Given the description of an element on the screen output the (x, y) to click on. 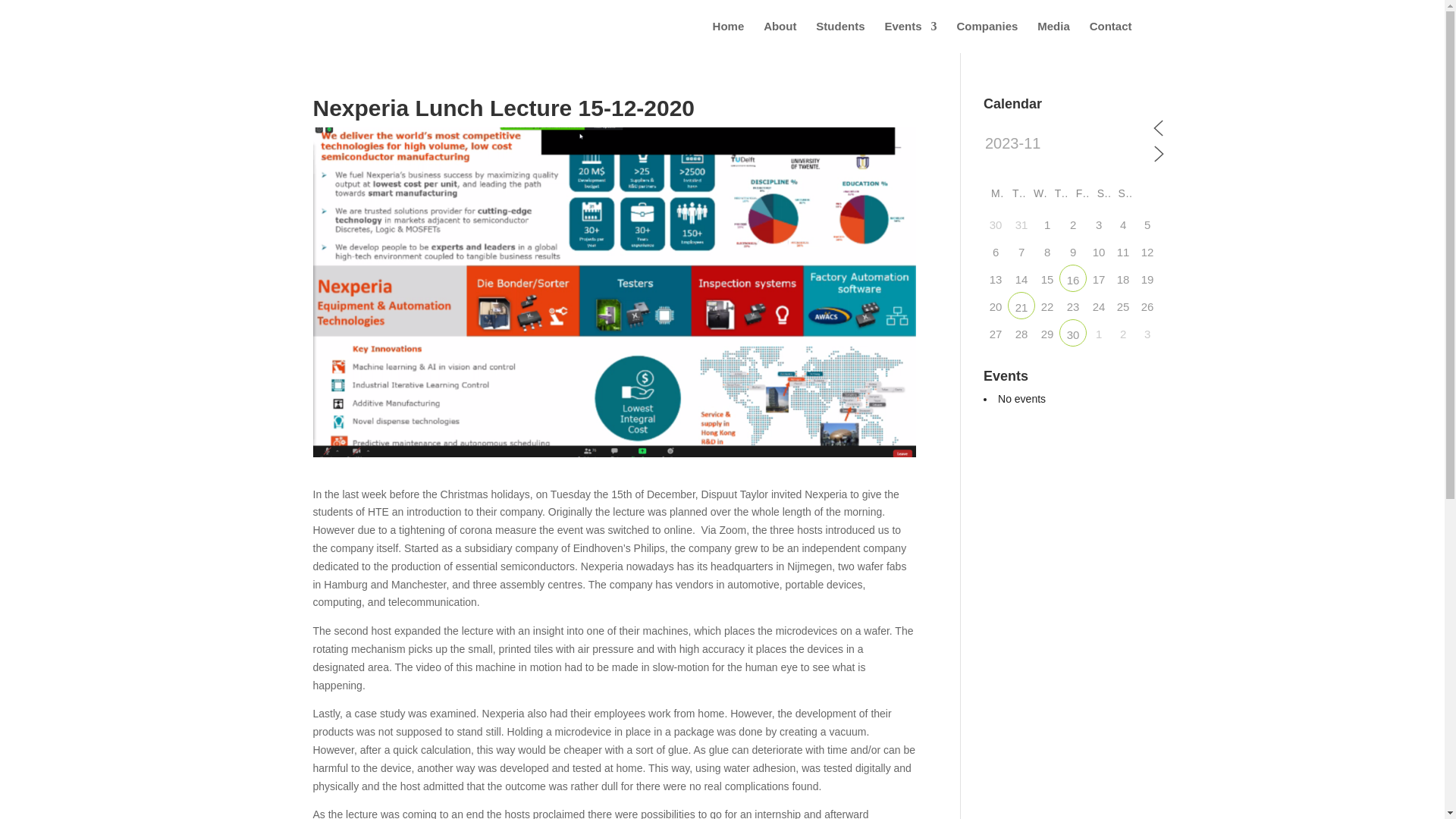
30 (1072, 332)
Lunch lecture Hittech (1021, 305)
Contact (1110, 37)
2023-11 (1066, 143)
Precision Fair 16 November (1072, 278)
About (779, 37)
Events (909, 37)
Students (839, 37)
Companies (986, 37)
Home (728, 37)
PM Company Visit (1072, 332)
Media (1053, 37)
21 (1021, 305)
16 (1072, 278)
